Given the description of an element on the screen output the (x, y) to click on. 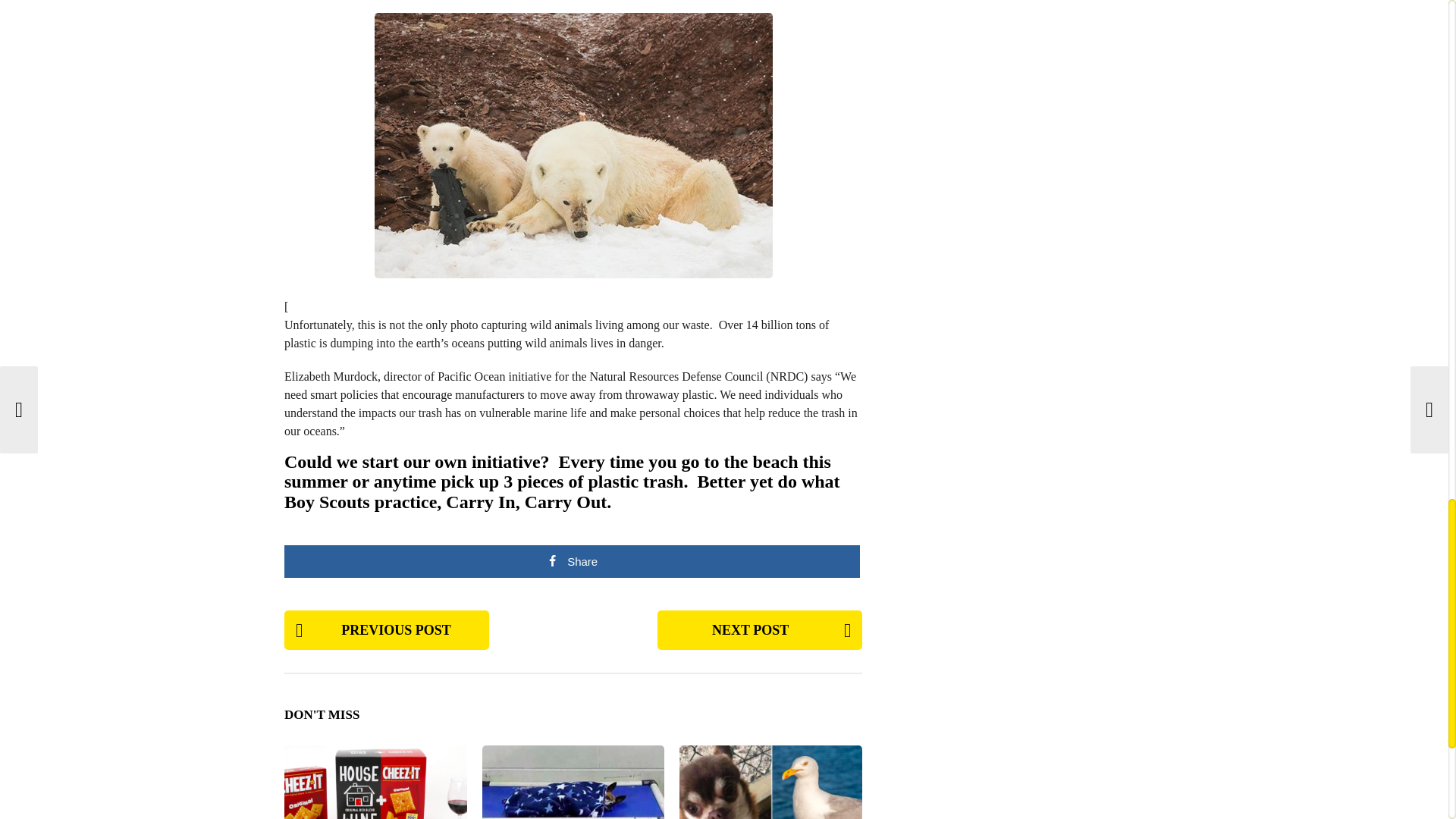
PREVIOUS POST (386, 630)
Share (571, 561)
NEXT POST (759, 630)
